Given the description of an element on the screen output the (x, y) to click on. 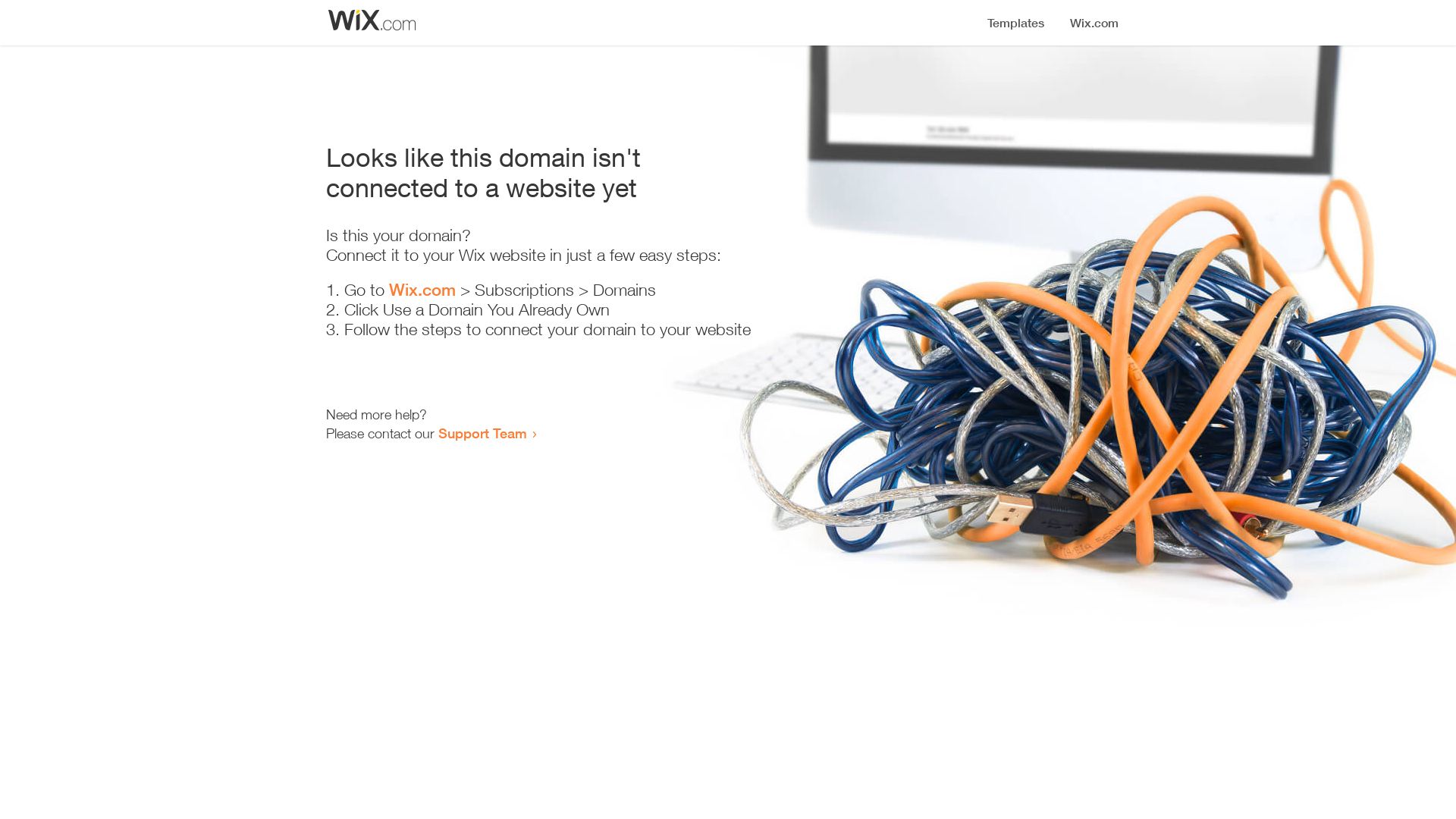
Wix.com Element type: text (422, 289)
Support Team Element type: text (482, 432)
